Given the description of an element on the screen output the (x, y) to click on. 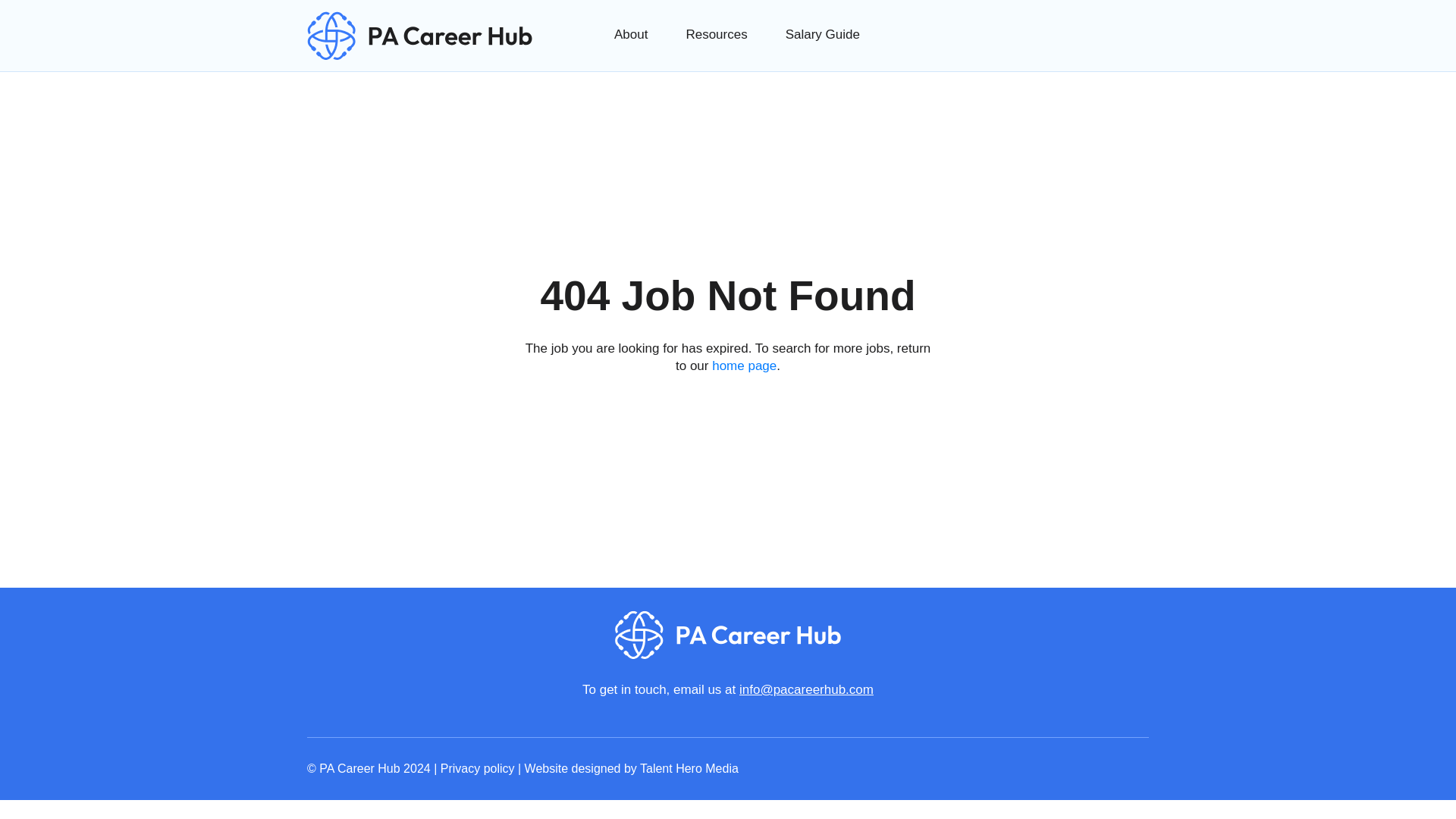
About (630, 34)
Salary Guide (823, 34)
home page (743, 365)
Resources (715, 34)
Search (196, 82)
